Given the description of an element on the screen output the (x, y) to click on. 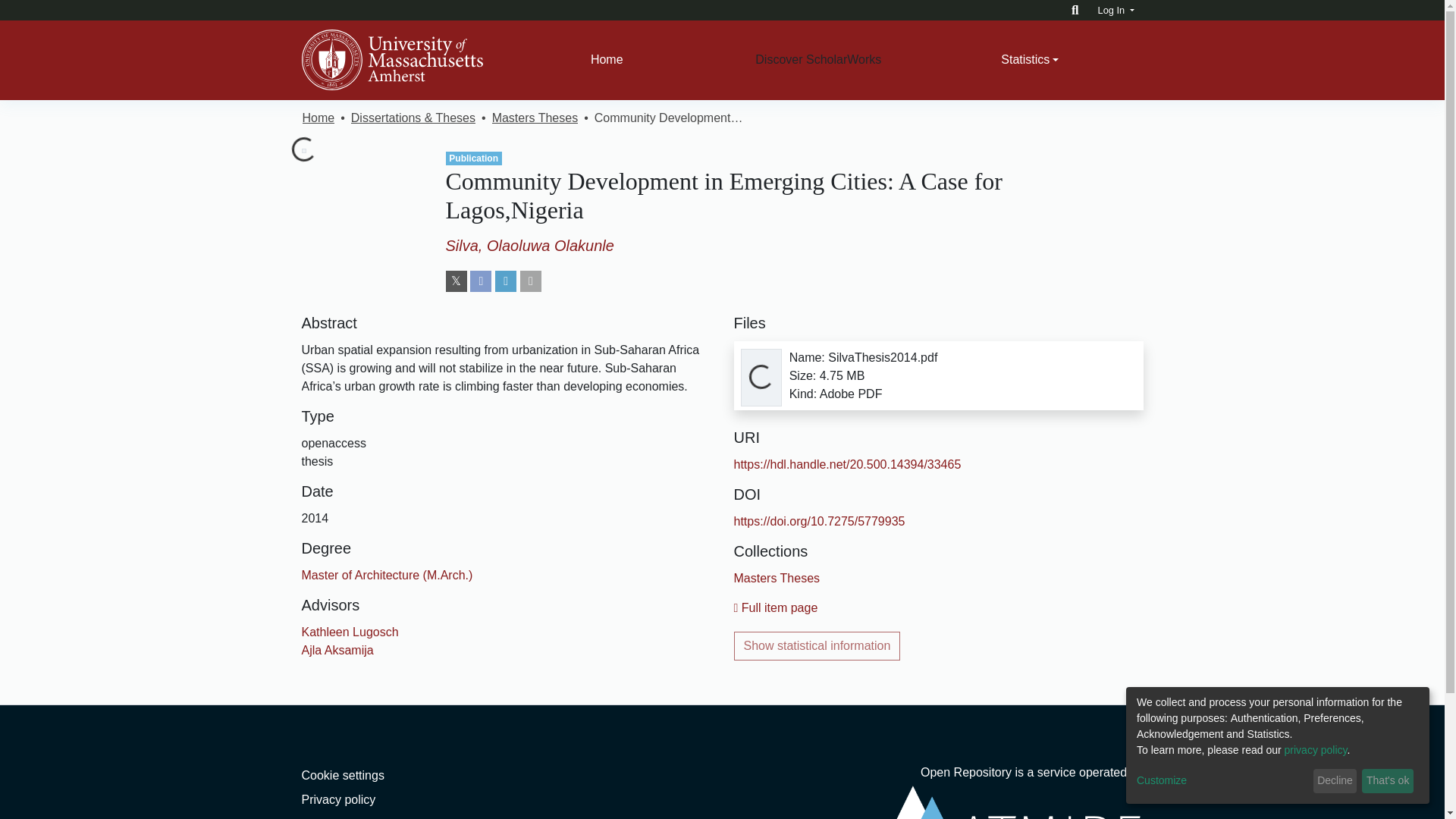
Privacy policy (338, 799)
Open Repository is a service operated by (1009, 792)
Cookie settings (342, 775)
Log In (1115, 9)
Silva, Olaoluwa Olakunle (529, 245)
Home (317, 117)
Masters Theses (535, 117)
Full item page (775, 607)
Home (606, 59)
Home (606, 59)
Send Feedback (344, 818)
Statistics (1029, 59)
Show statistical information (817, 645)
Kathleen Lugosch (349, 631)
